Given the description of an element on the screen output the (x, y) to click on. 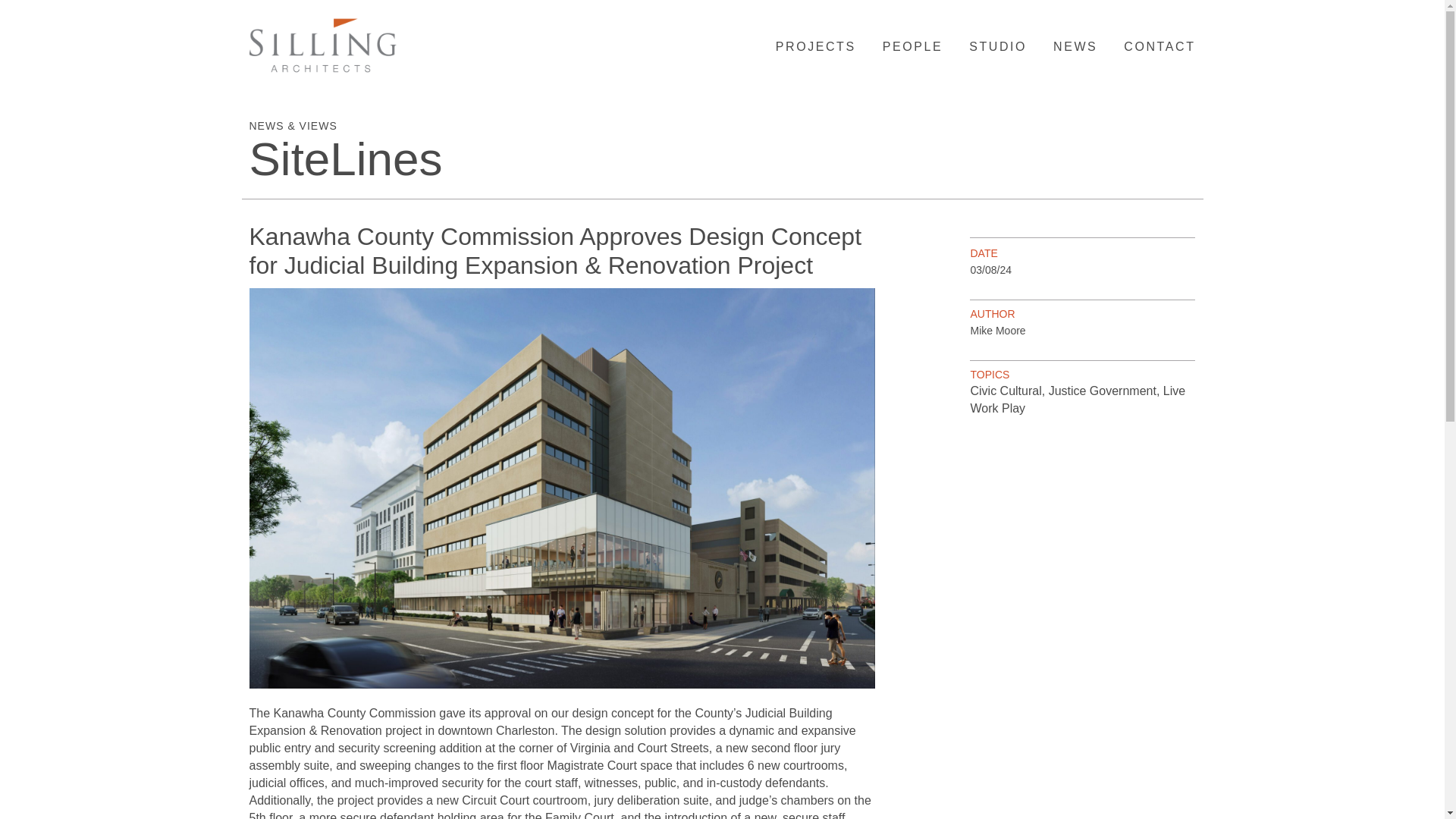
Posts by Mike Moore (997, 330)
Civic Cultural (1005, 390)
Mike Moore (997, 330)
PROJECTS (816, 46)
CONTACT (1159, 46)
NEWS (1074, 46)
PEOPLE (912, 46)
Justice Government (1102, 390)
Live Work Play (1077, 399)
STUDIO (997, 46)
